Given the description of an element on the screen output the (x, y) to click on. 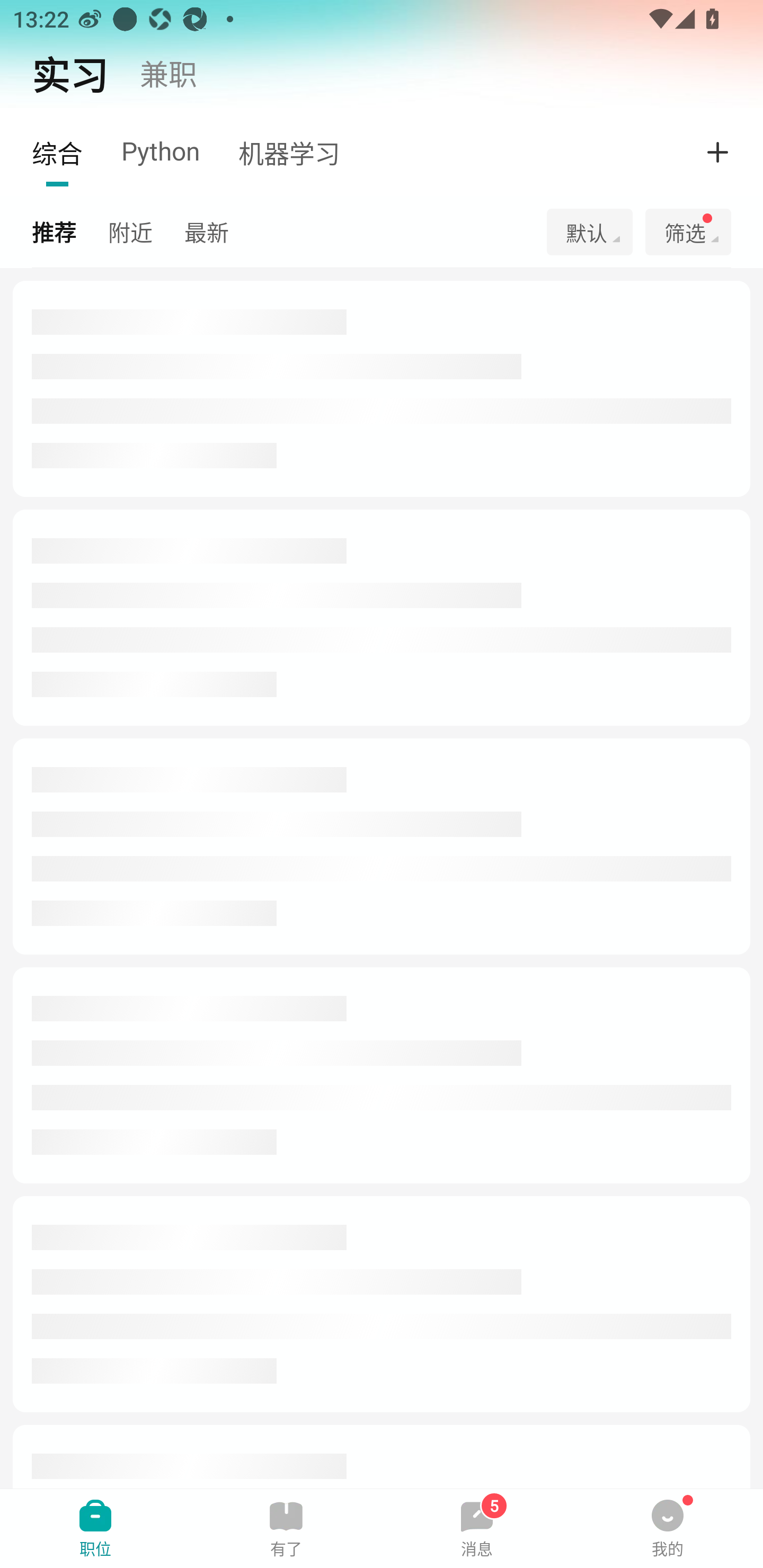
实习 (70, 72)
兼职 (167, 72)
综合 (69, 151)
Python (172, 150)
机器学习 (301, 151)
推荐 (70, 231)
附近 (146, 231)
最新 (222, 231)
默认 (589, 232)
筛选 (681, 232)
职位 (95, 1528)
有了 (285, 1528)
消息 (476, 1528)
我的 (667, 1528)
